Given the description of an element on the screen output the (x, y) to click on. 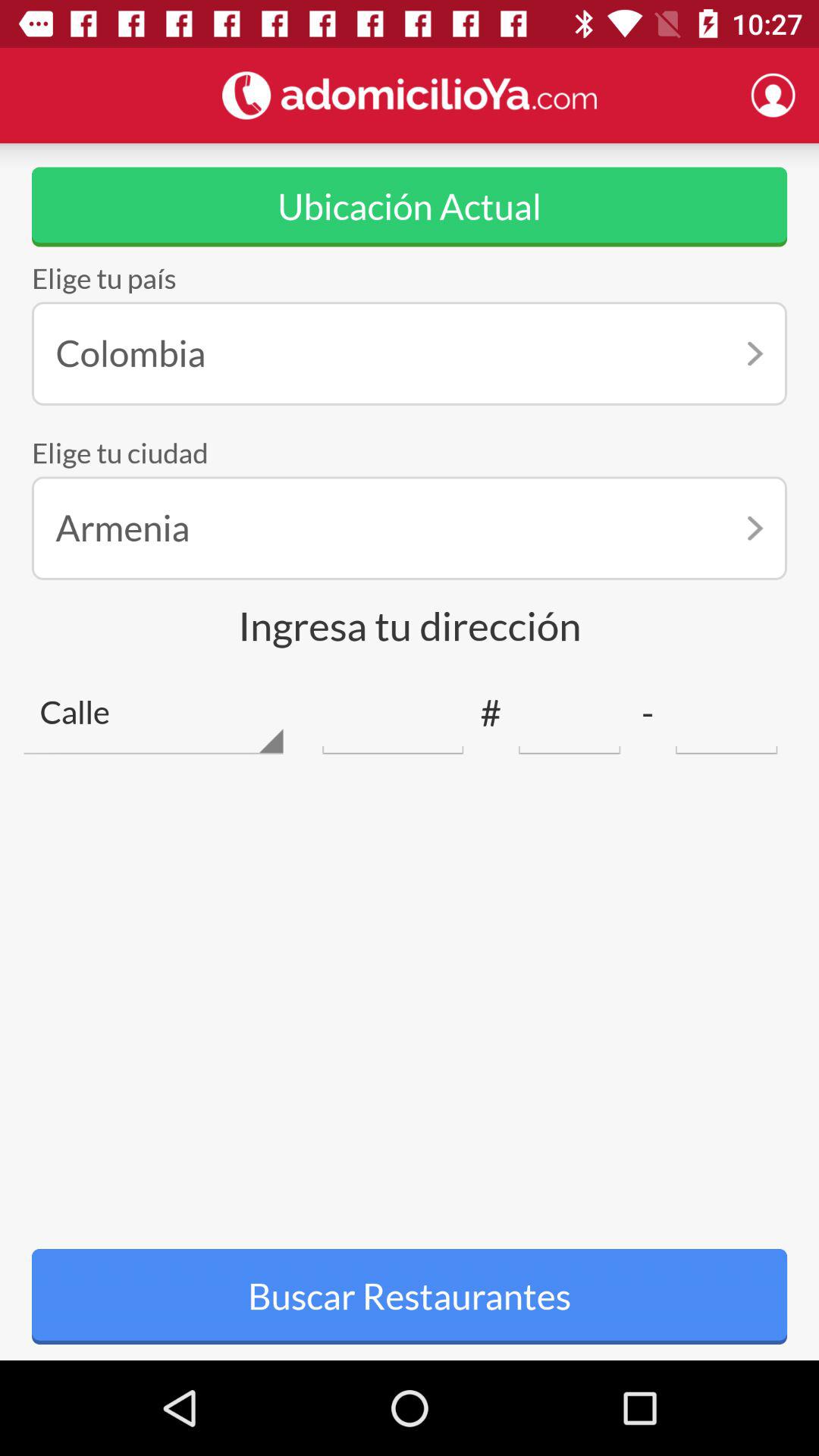
input number (726, 713)
